Given the description of an element on the screen output the (x, y) to click on. 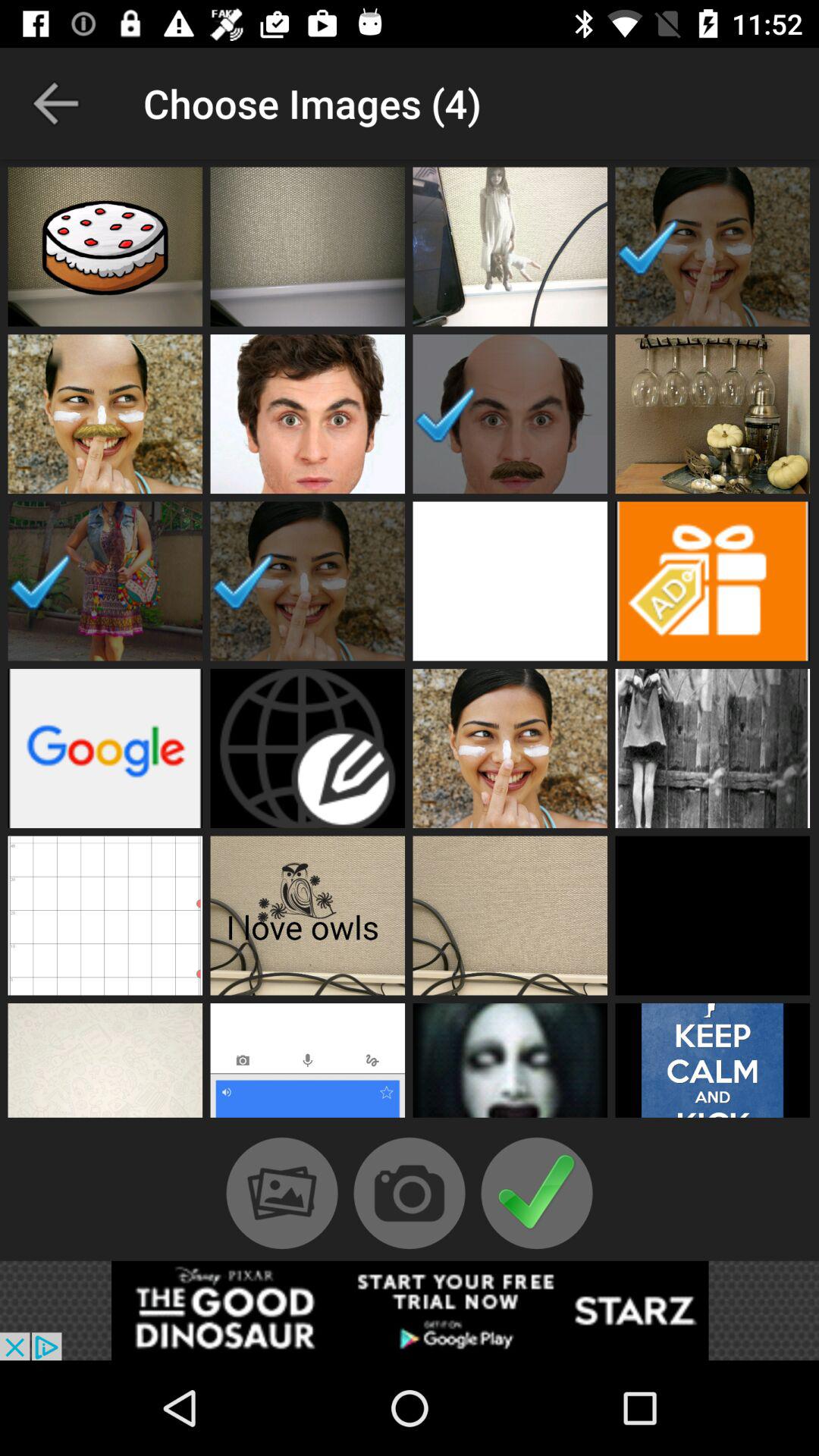
select an image (509, 1064)
